Given the description of an element on the screen output the (x, y) to click on. 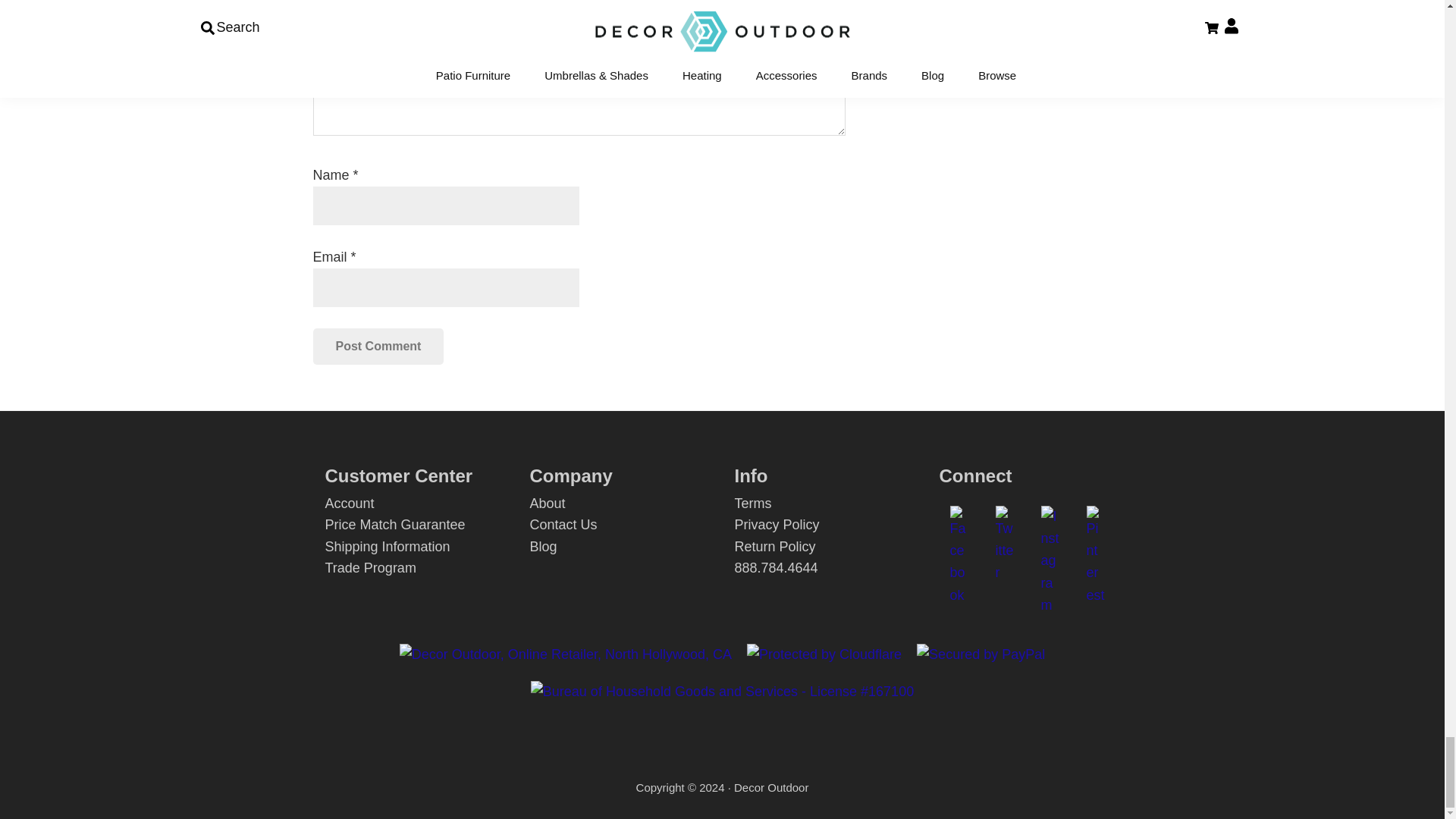
Post Comment (378, 346)
